Given the description of an element on the screen output the (x, y) to click on. 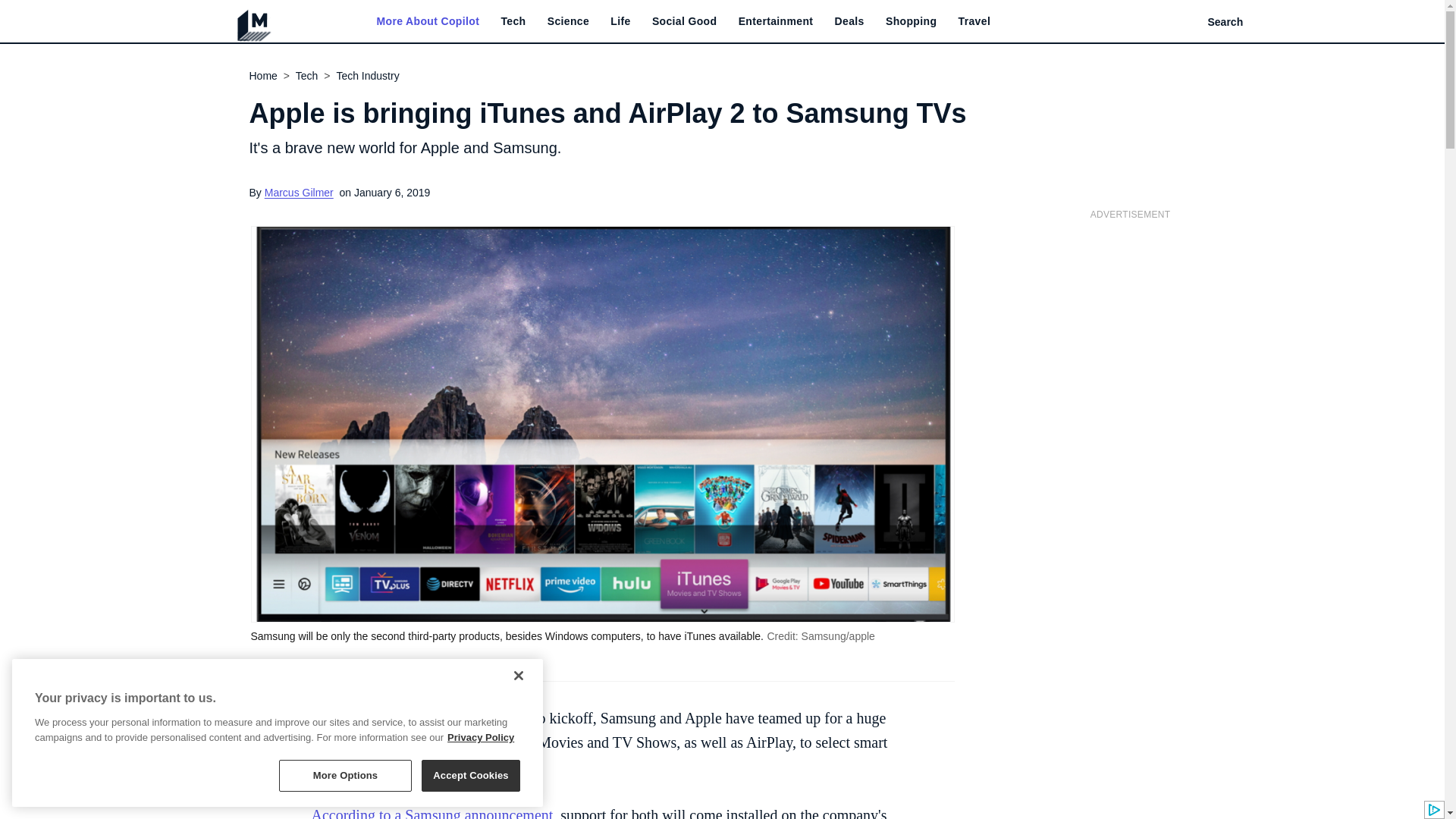
Deals (849, 21)
Social Good (684, 21)
More About Copilot (427, 21)
Entertainment (775, 21)
Life (620, 21)
Travel (974, 21)
Tech (512, 21)
Science (568, 21)
Shopping (910, 21)
